Given the description of an element on the screen output the (x, y) to click on. 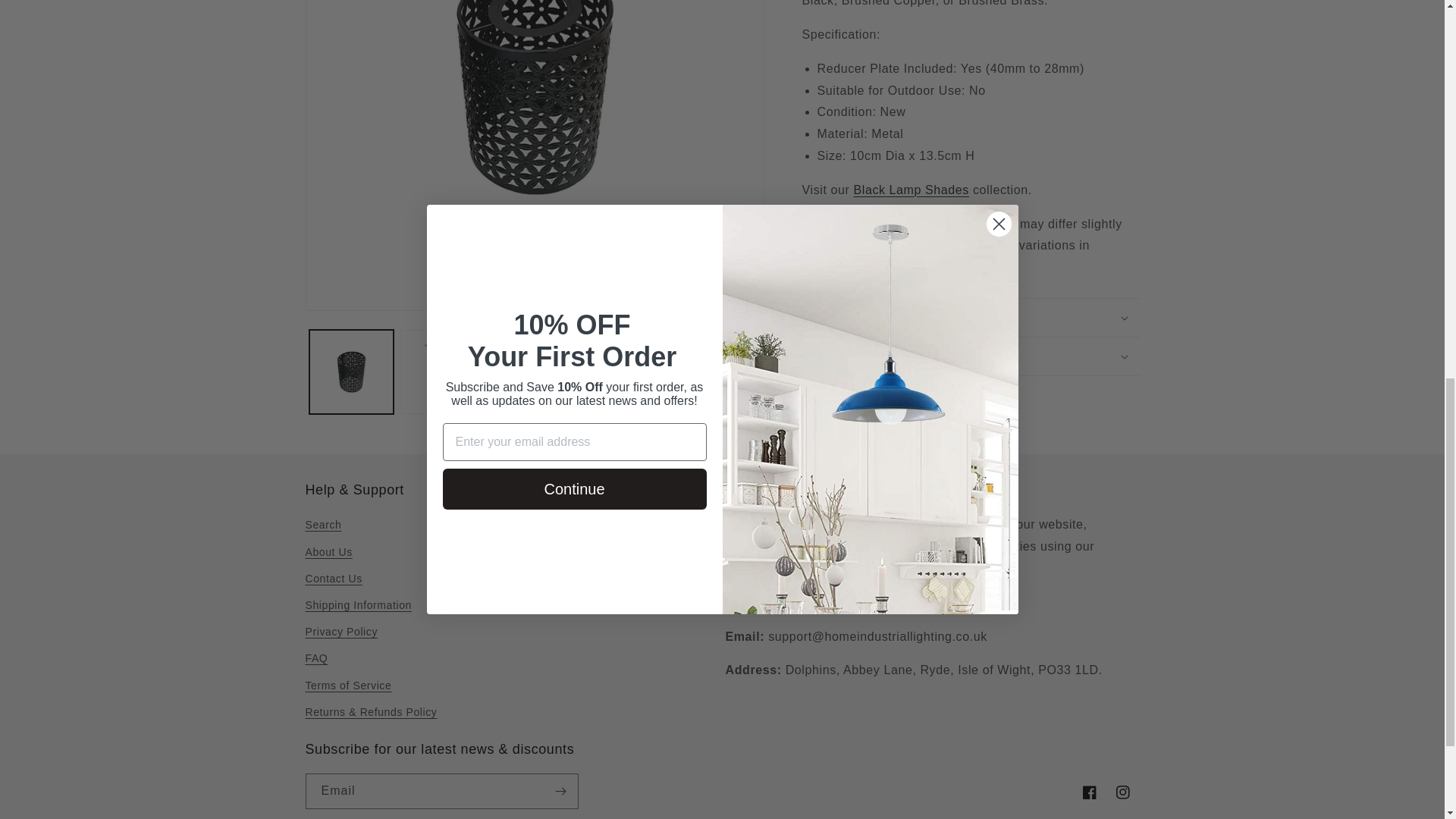
Black Lamp Shades (911, 189)
